Given the description of an element on the screen output the (x, y) to click on. 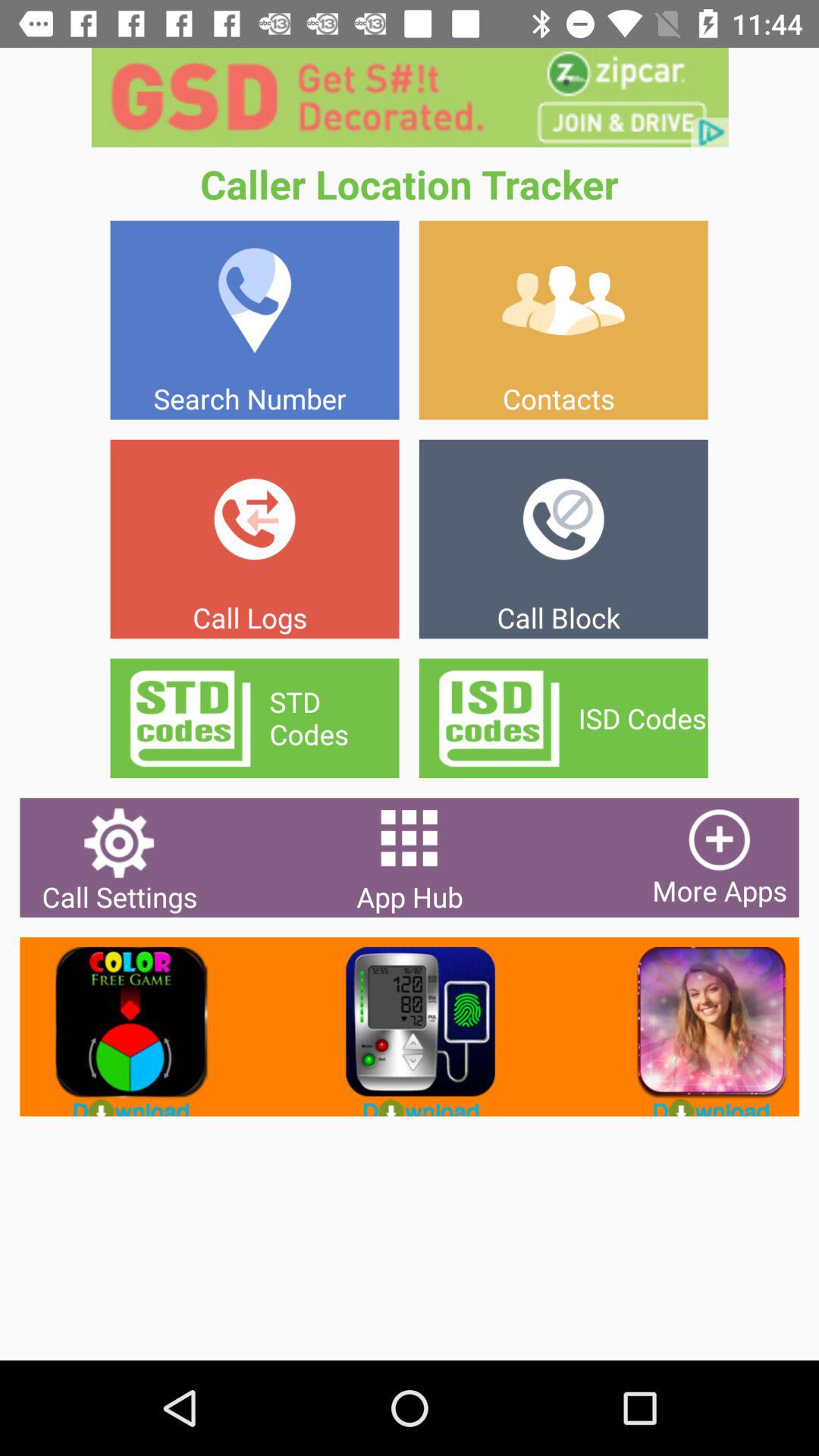
download app (699, 1026)
